Given the description of an element on the screen output the (x, y) to click on. 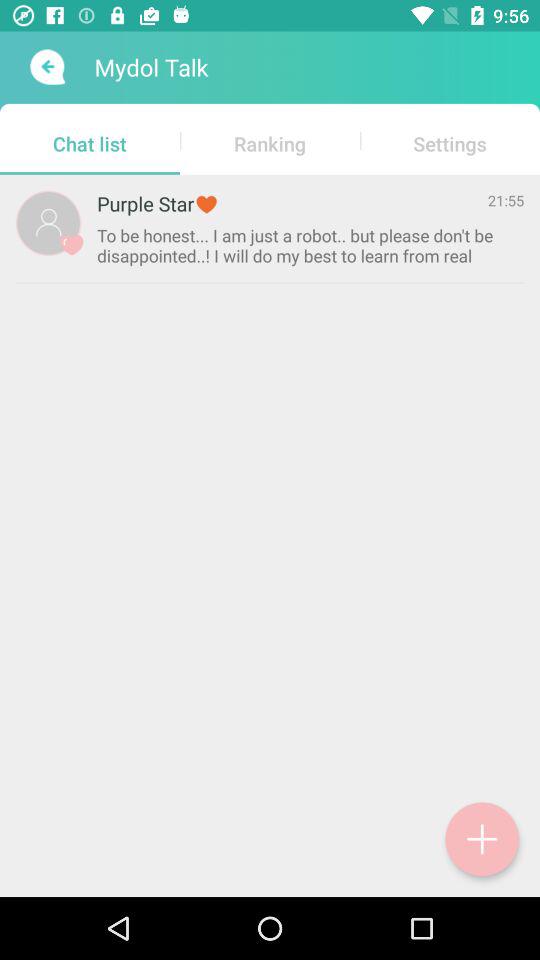
launch the item above the chat list item (45, 67)
